Given the description of an element on the screen output the (x, y) to click on. 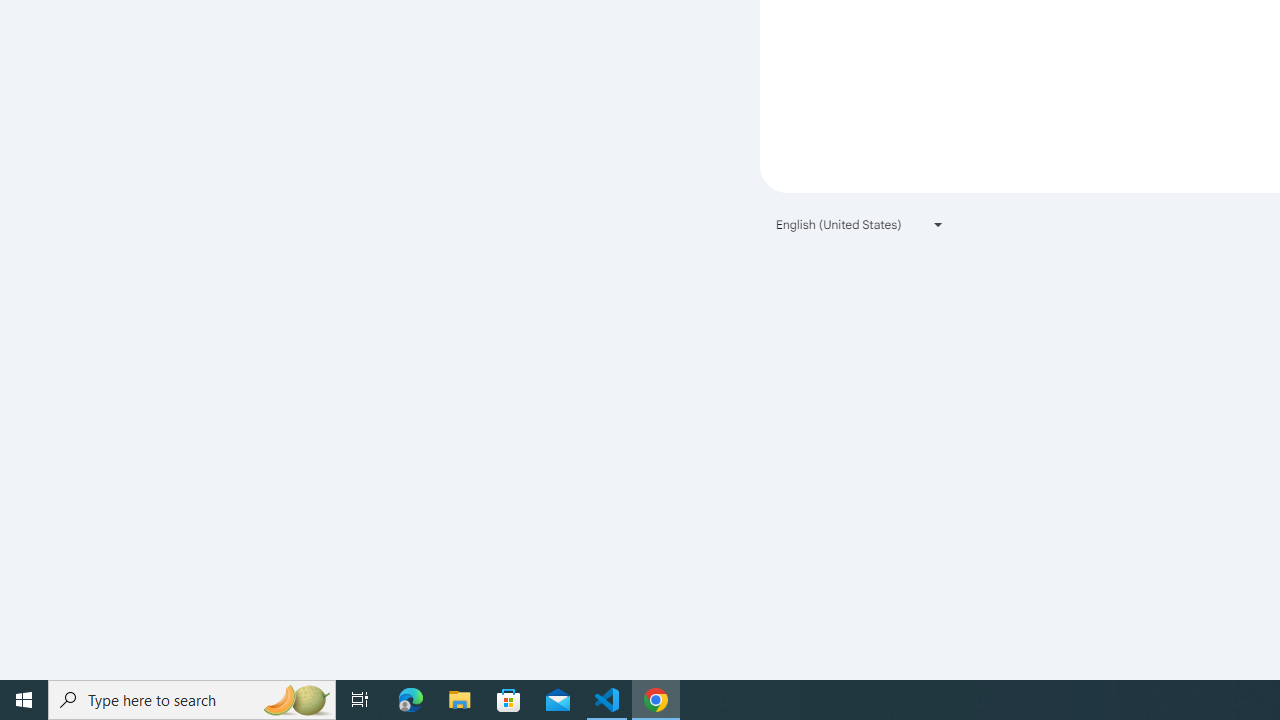
English (United States) (860, 224)
